Given the description of an element on the screen output the (x, y) to click on. 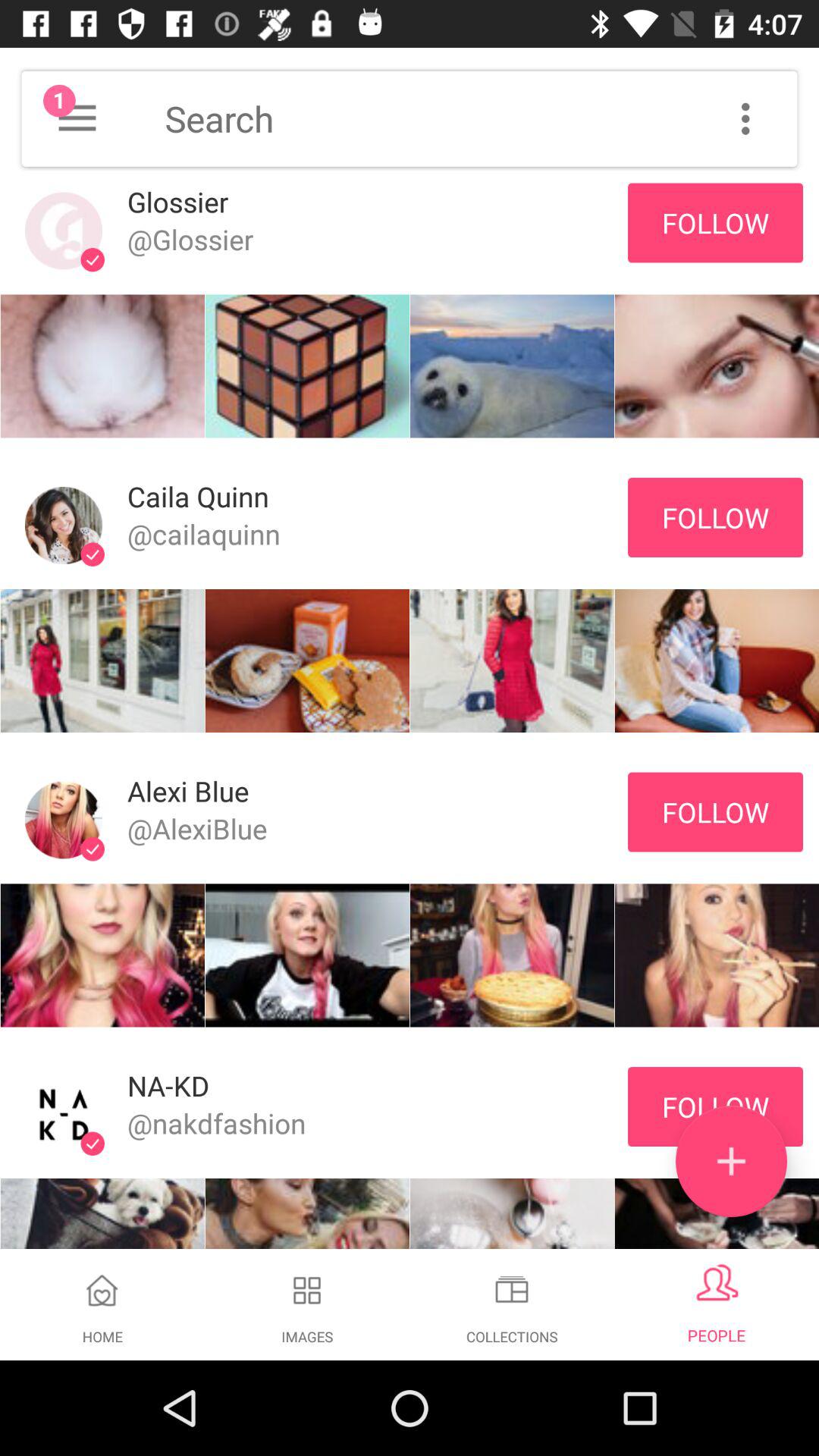
menu drop down (77, 118)
